Given the description of an element on the screen output the (x, y) to click on. 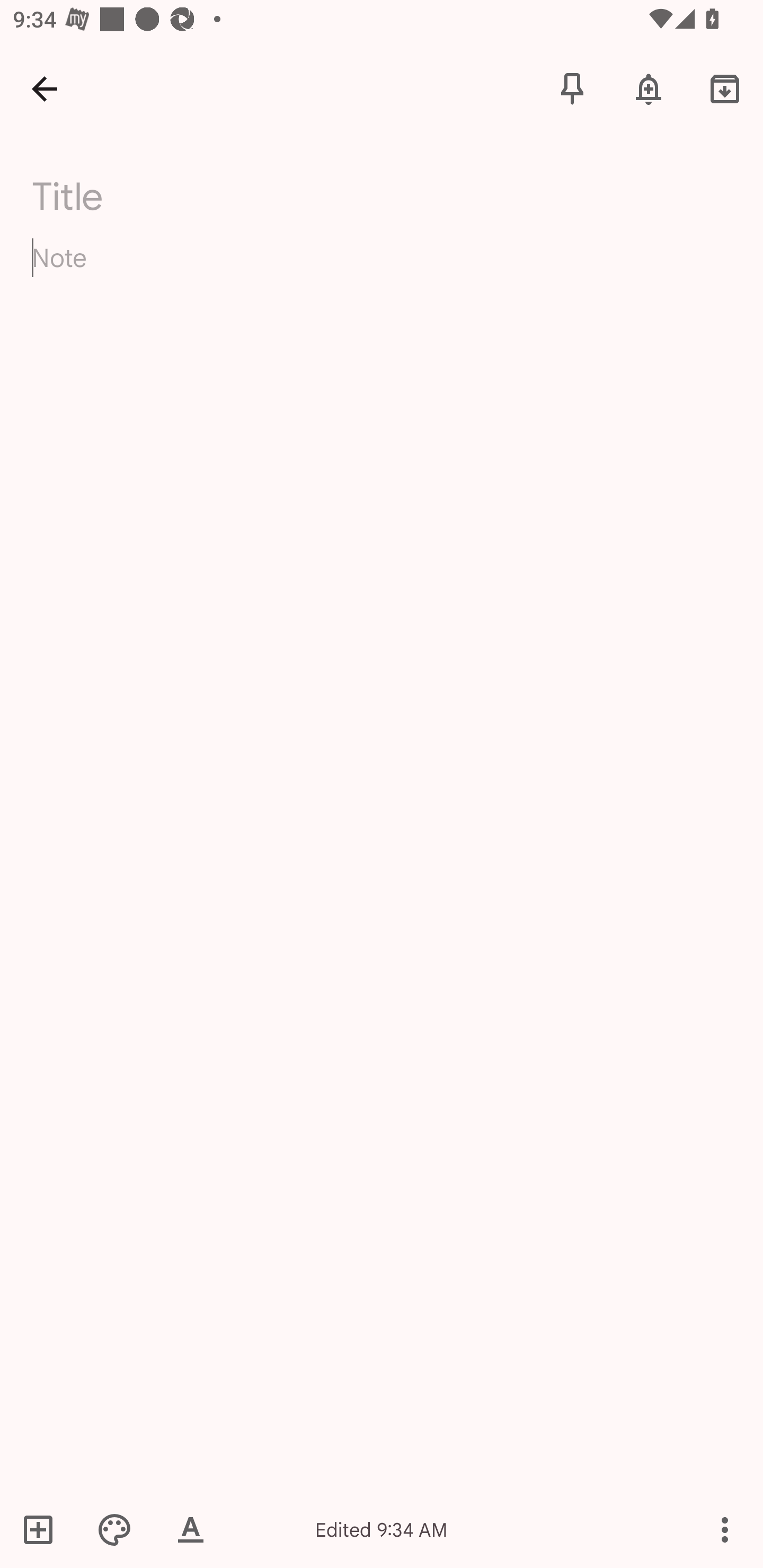
Navigate up (44, 88)
Pin (572, 88)
Reminder (648, 88)
Archive (724, 88)
.  (193, 192)
Note (381, 273)
New list (44, 1529)
Theme (114, 1529)
Show formatting controls (190, 1529)
Action (724, 1529)
